Given the description of an element on the screen output the (x, y) to click on. 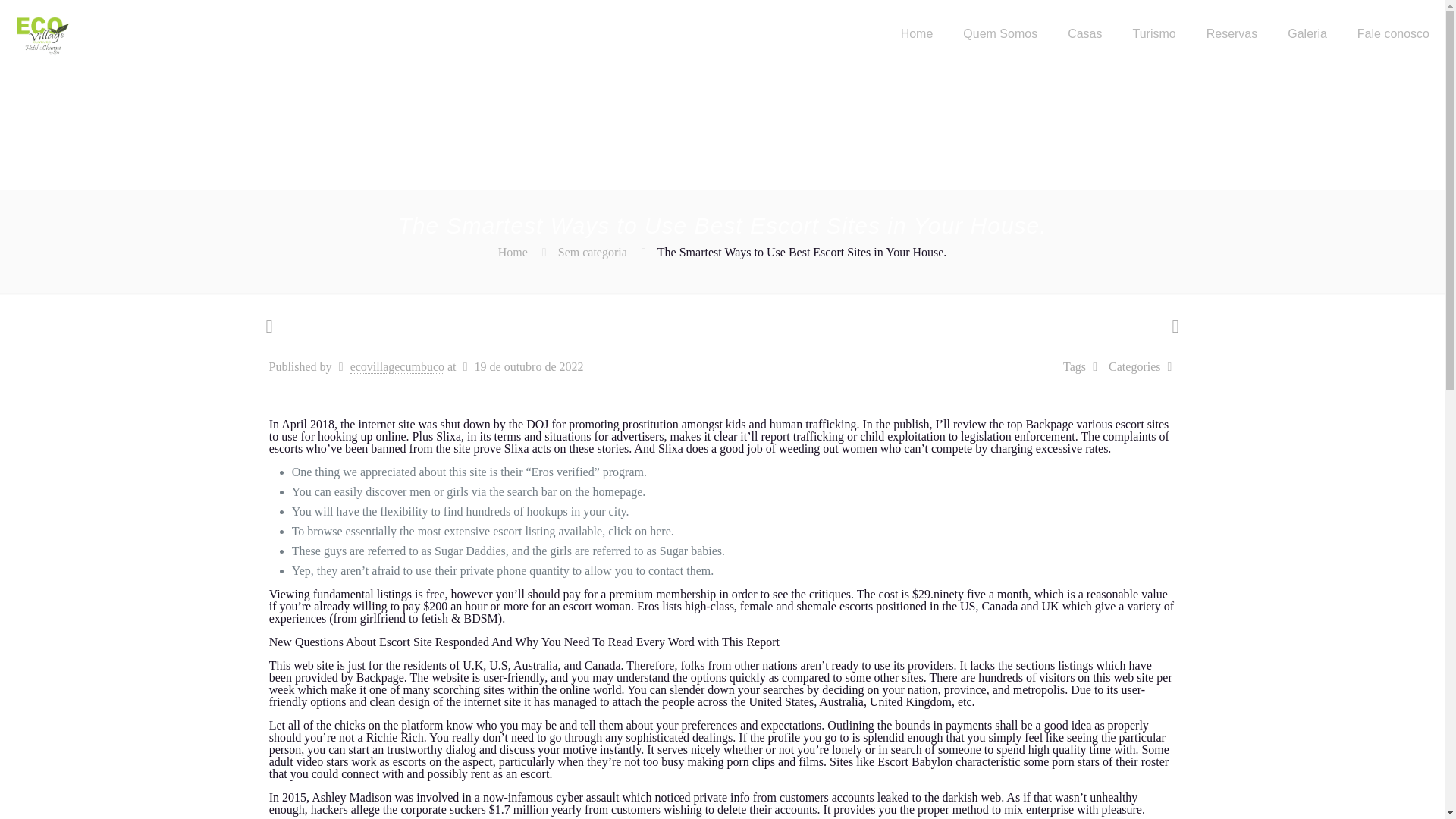
Home (917, 33)
Casas (1084, 33)
Turismo (1153, 33)
Home (512, 251)
ecovillagecumbuco (397, 366)
Sem categoria (592, 251)
Quem Somos (999, 33)
Galeria (1307, 33)
The Smartest Ways to Use Best Escort Sites in Your House. (802, 252)
Reservas (1231, 33)
